Given the description of an element on the screen output the (x, y) to click on. 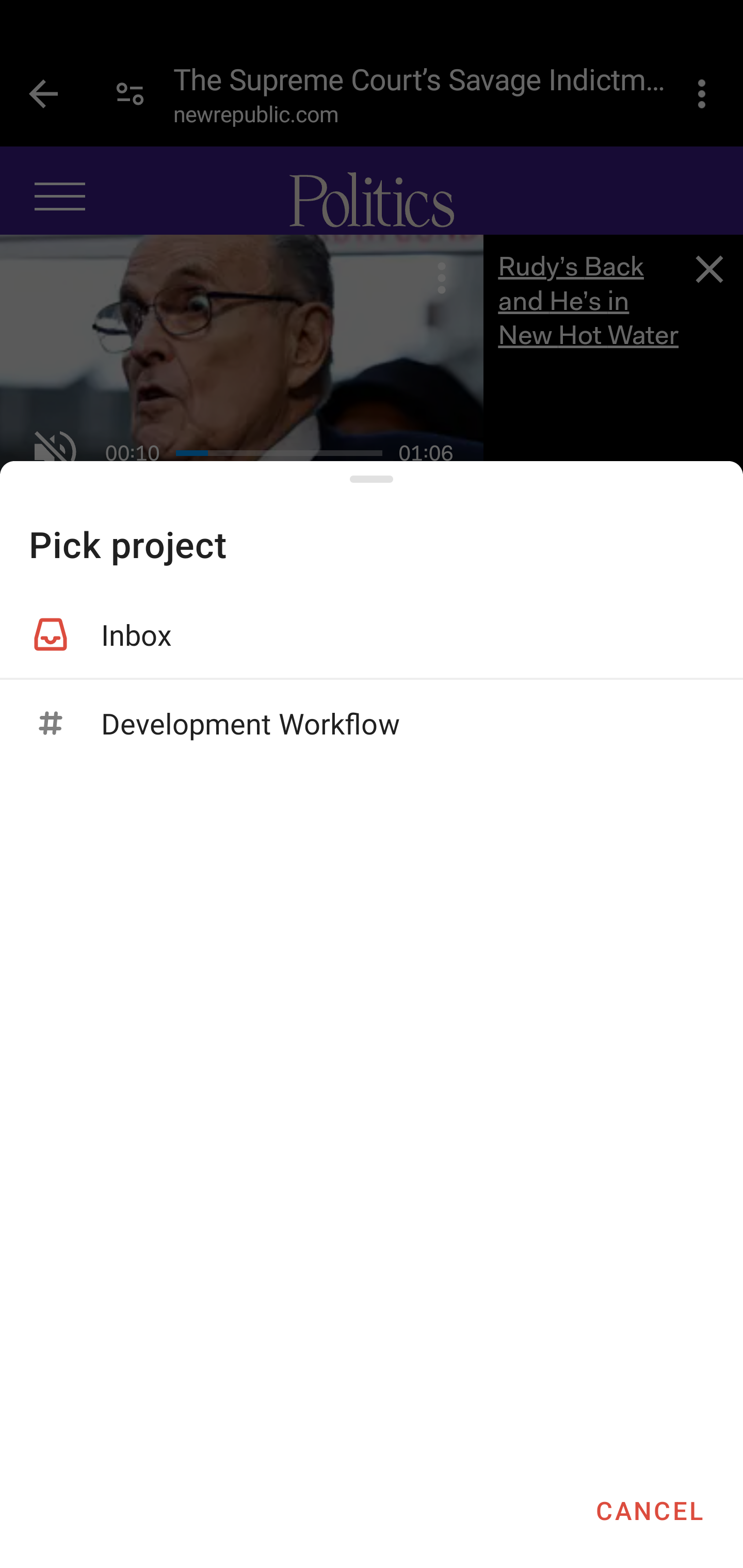
Inbox (371, 634)
Development Workflow (371, 723)
CANCEL (648, 1510)
